Given the description of an element on the screen output the (x, y) to click on. 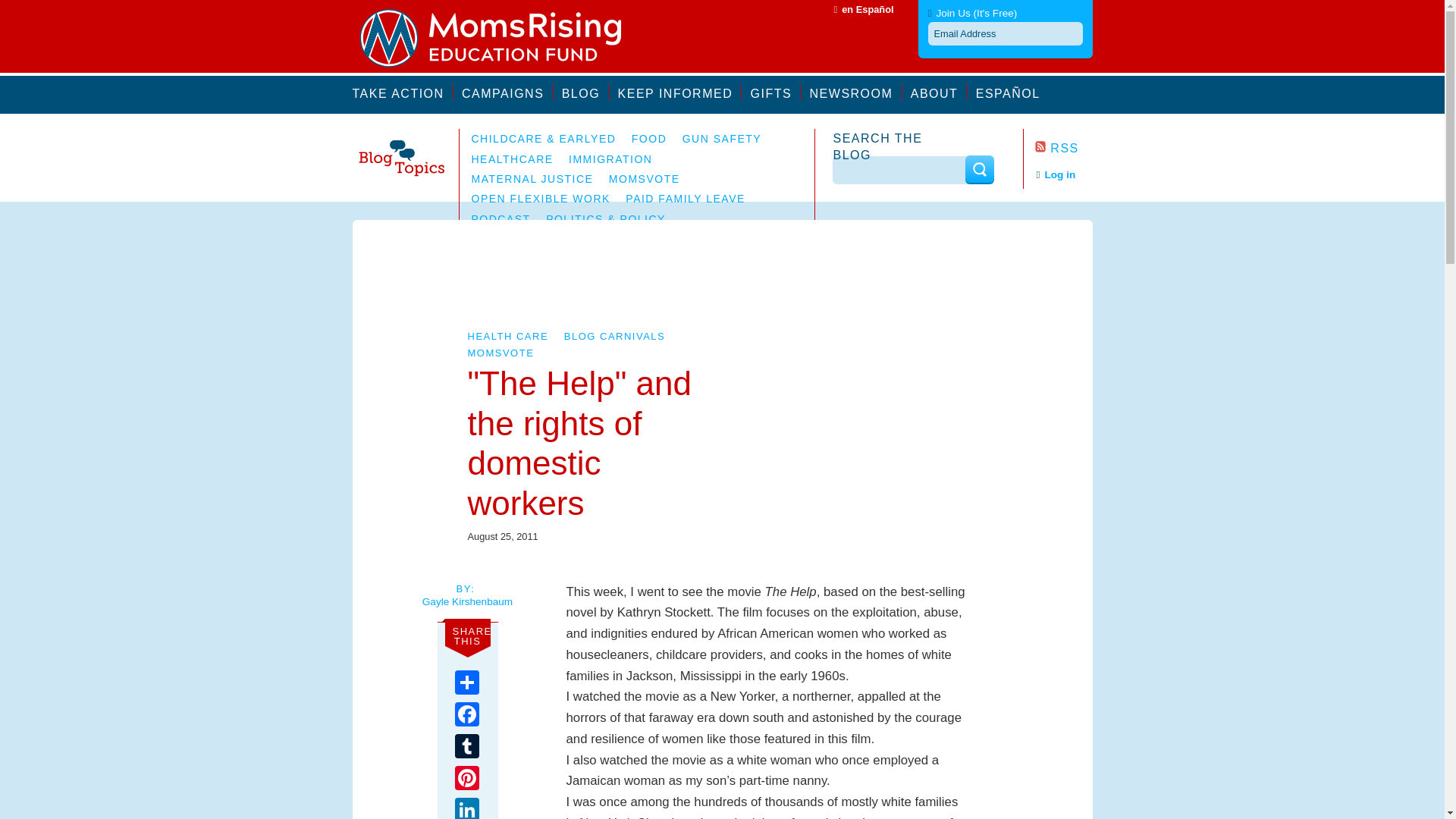
Enter the terms you wish to search for. (900, 170)
BLOG CARNIVALS (614, 336)
CAMPAIGNS (507, 91)
GUN SAFETY (721, 138)
RSS (1055, 147)
Email Address (1005, 33)
GIFTS (776, 91)
Skip to main content (55, 8)
OPEN FLEXIBLE WORK (540, 198)
BLOG (586, 91)
Search (978, 169)
KEEP INFORMED (679, 91)
MomsRising.org (499, 38)
MOMSVOTE (500, 353)
Log in (1055, 174)
